Given the description of an element on the screen output the (x, y) to click on. 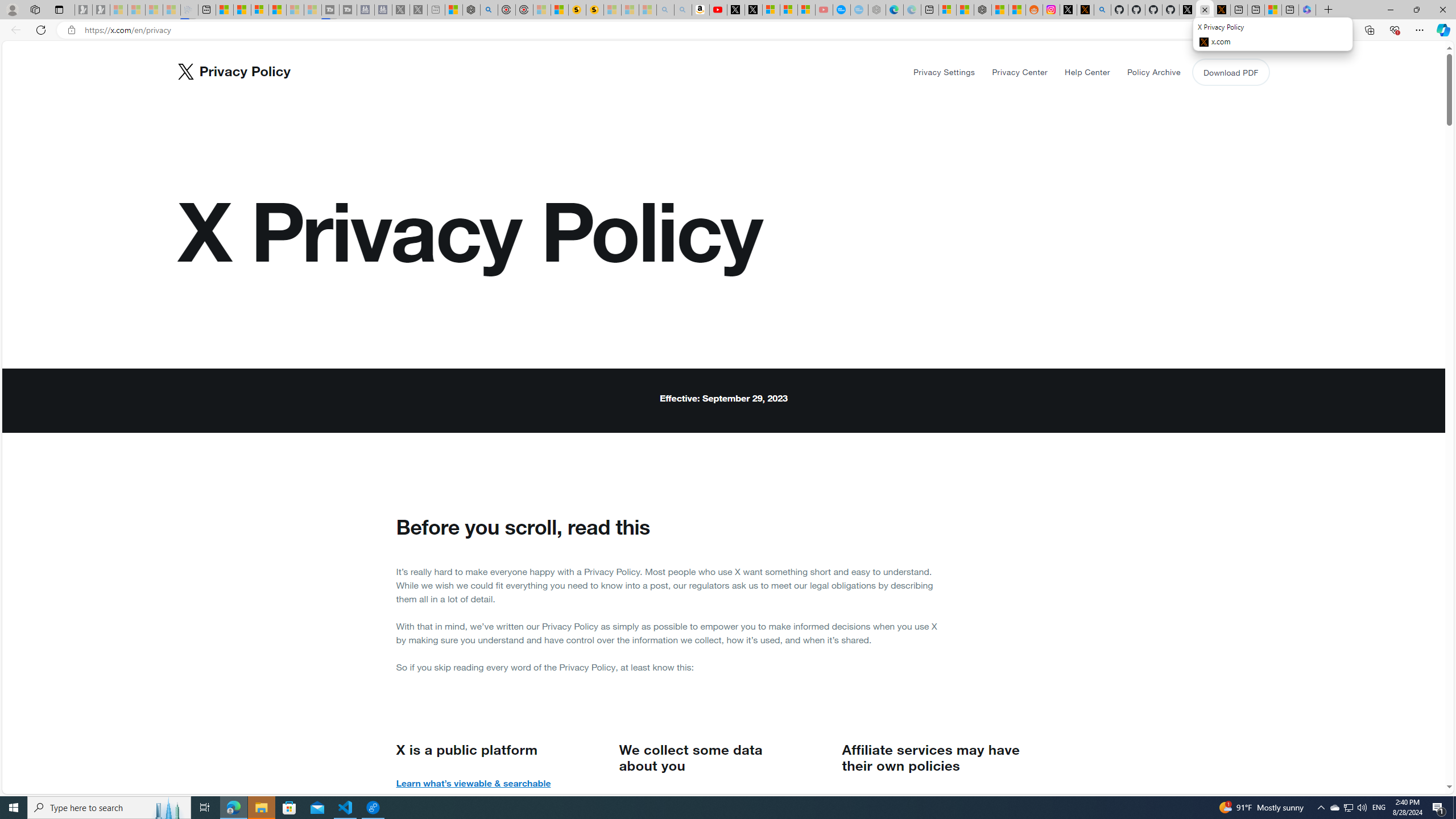
Shopping in Microsoft Edge (1245, 29)
Shanghai, China Weather trends | Microsoft Weather (1016, 9)
Privacy Settings (944, 72)
Policy Archive (1153, 72)
Login | Microsoft 365 (1307, 9)
Nordace - Duffels (982, 9)
Day 1: Arriving in Yemen (surreal to be here) - YouTube (718, 9)
